Given the description of an element on the screen output the (x, y) to click on. 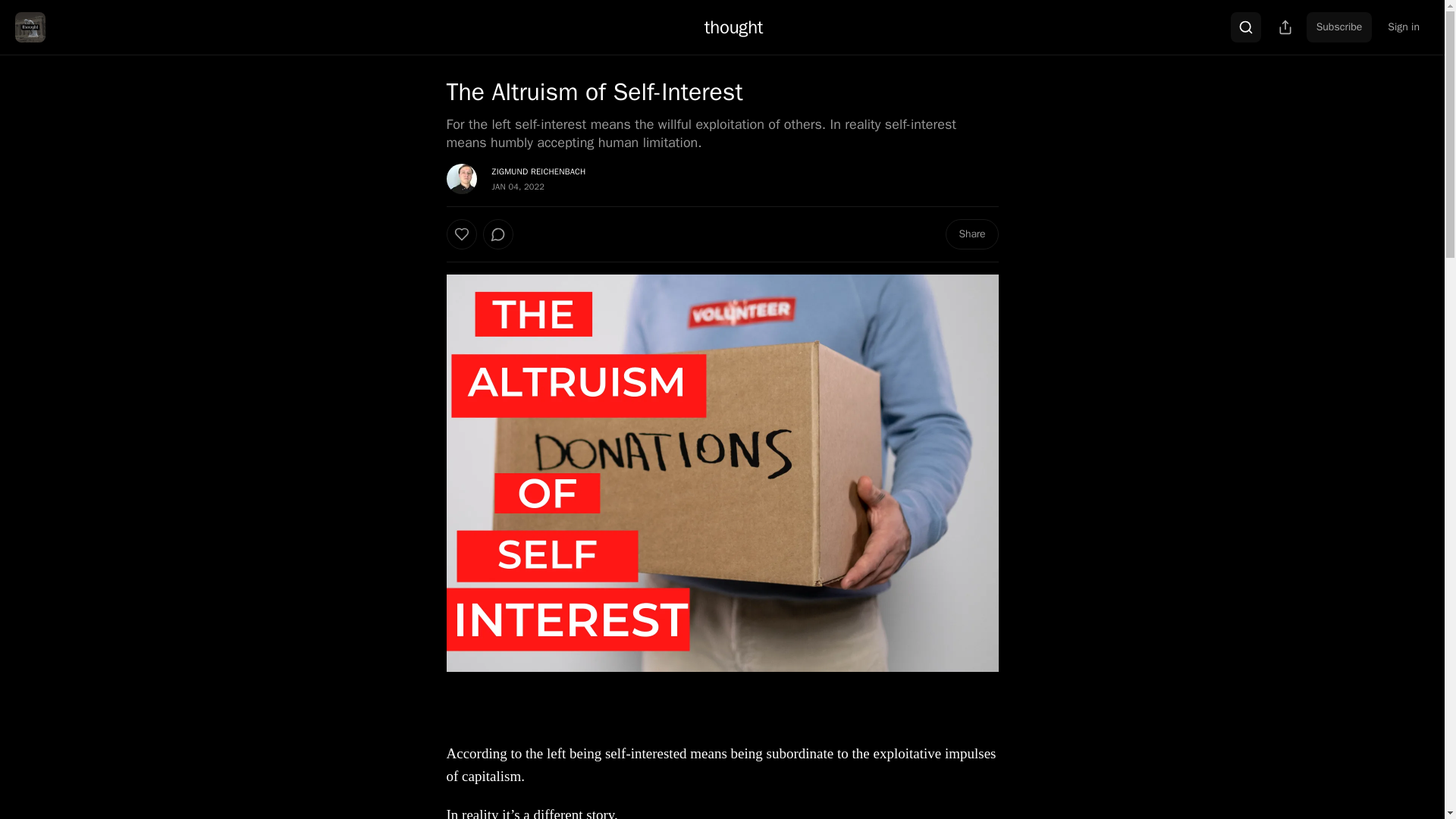
ZIGMUND REICHENBACH (538, 171)
Sign in (1403, 27)
thought (733, 26)
Share (970, 234)
Subscribe (1339, 27)
